Given the description of an element on the screen output the (x, y) to click on. 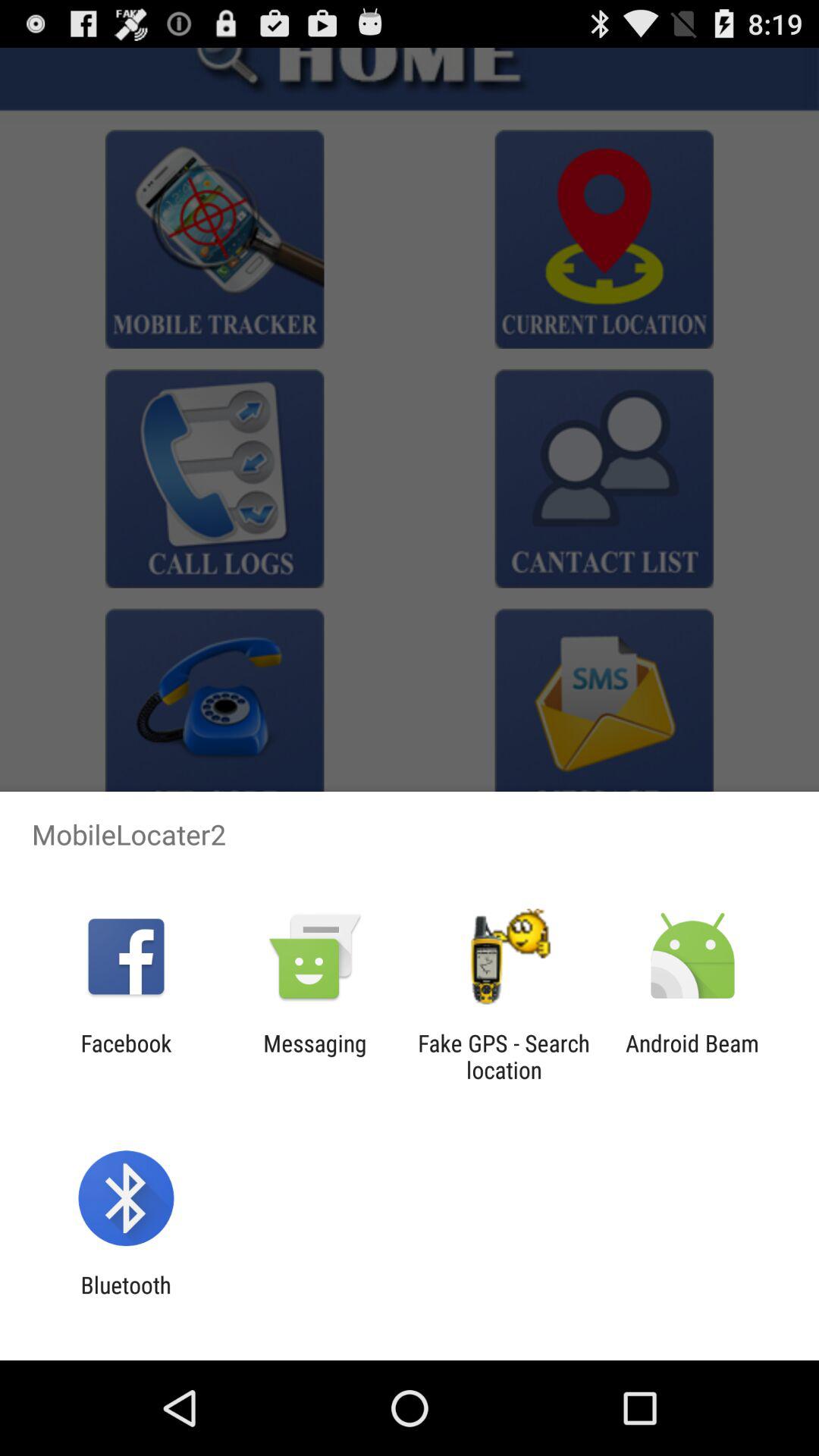
turn off facebook (125, 1056)
